Given the description of an element on the screen output the (x, y) to click on. 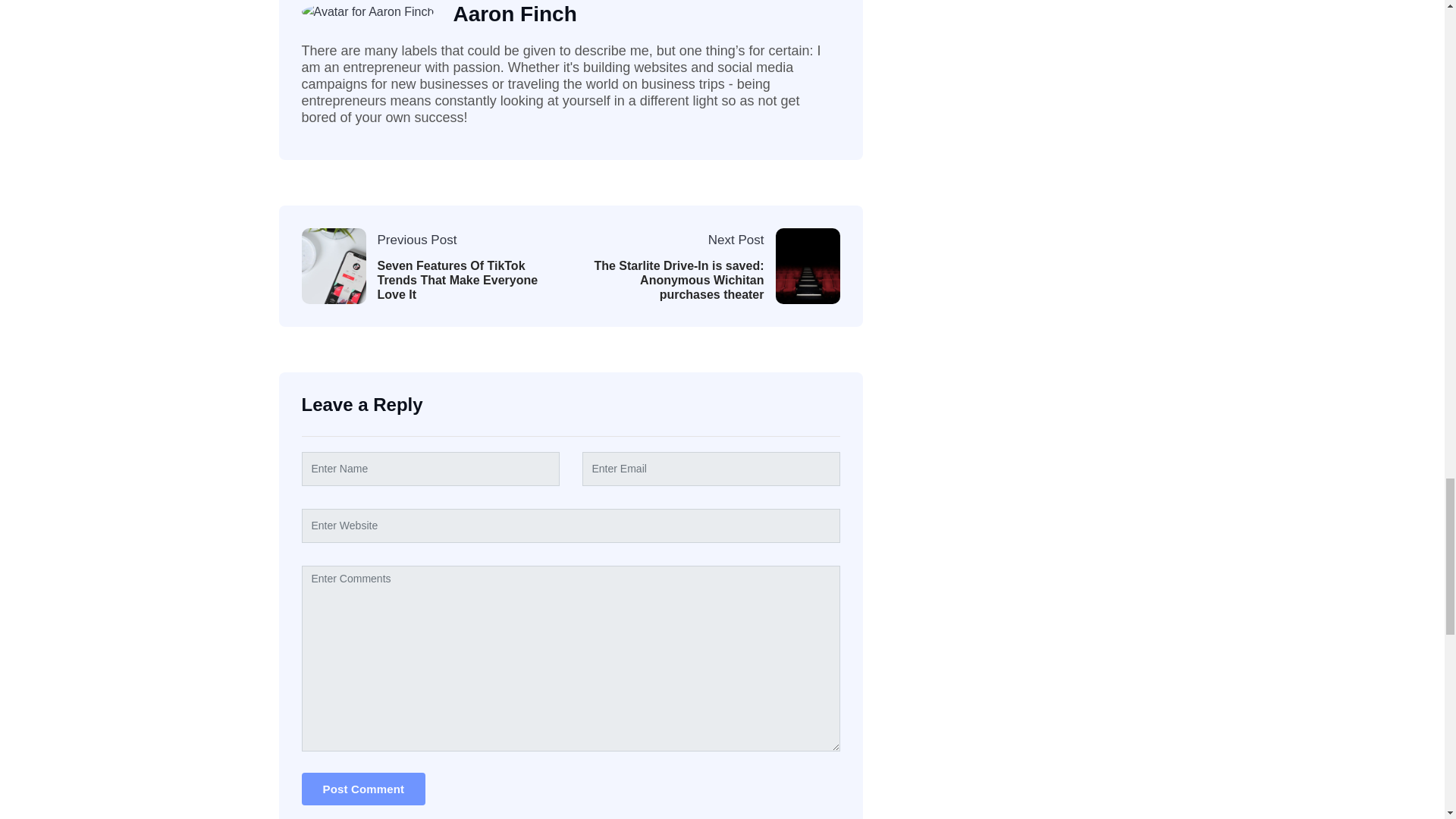
Post Comment (363, 789)
Seven Features Of TikTok Trends That Make Everyone Love It (462, 280)
Post Comment (363, 789)
